Given the description of an element on the screen output the (x, y) to click on. 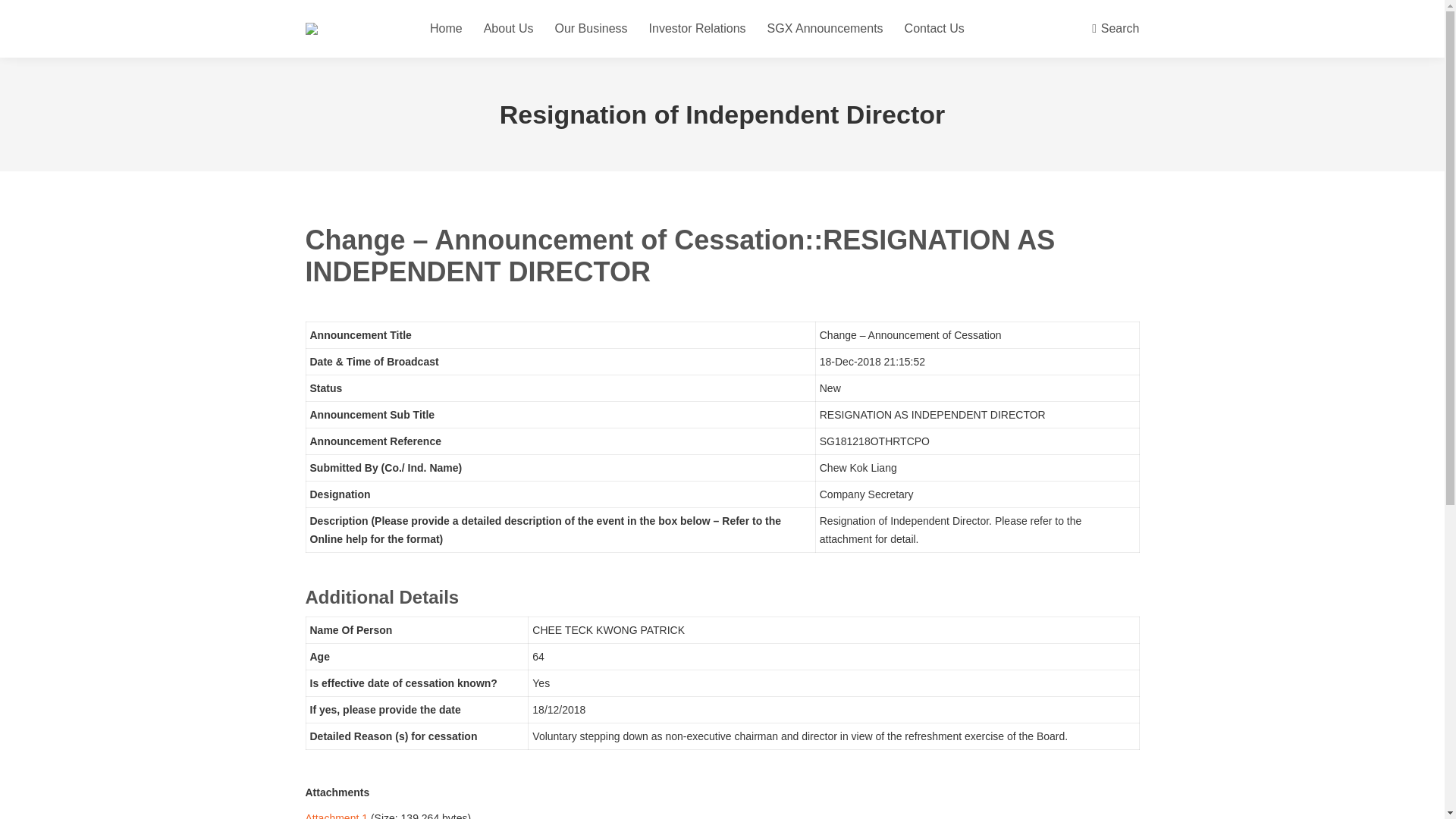
Go! (10, 16)
About Us (508, 28)
Contact Us (934, 28)
Home (445, 28)
Search (1115, 28)
Attachment 1 (336, 815)
Our Business (590, 28)
Investor Relations (697, 28)
SGX Announcements (825, 28)
